Given the description of an element on the screen output the (x, y) to click on. 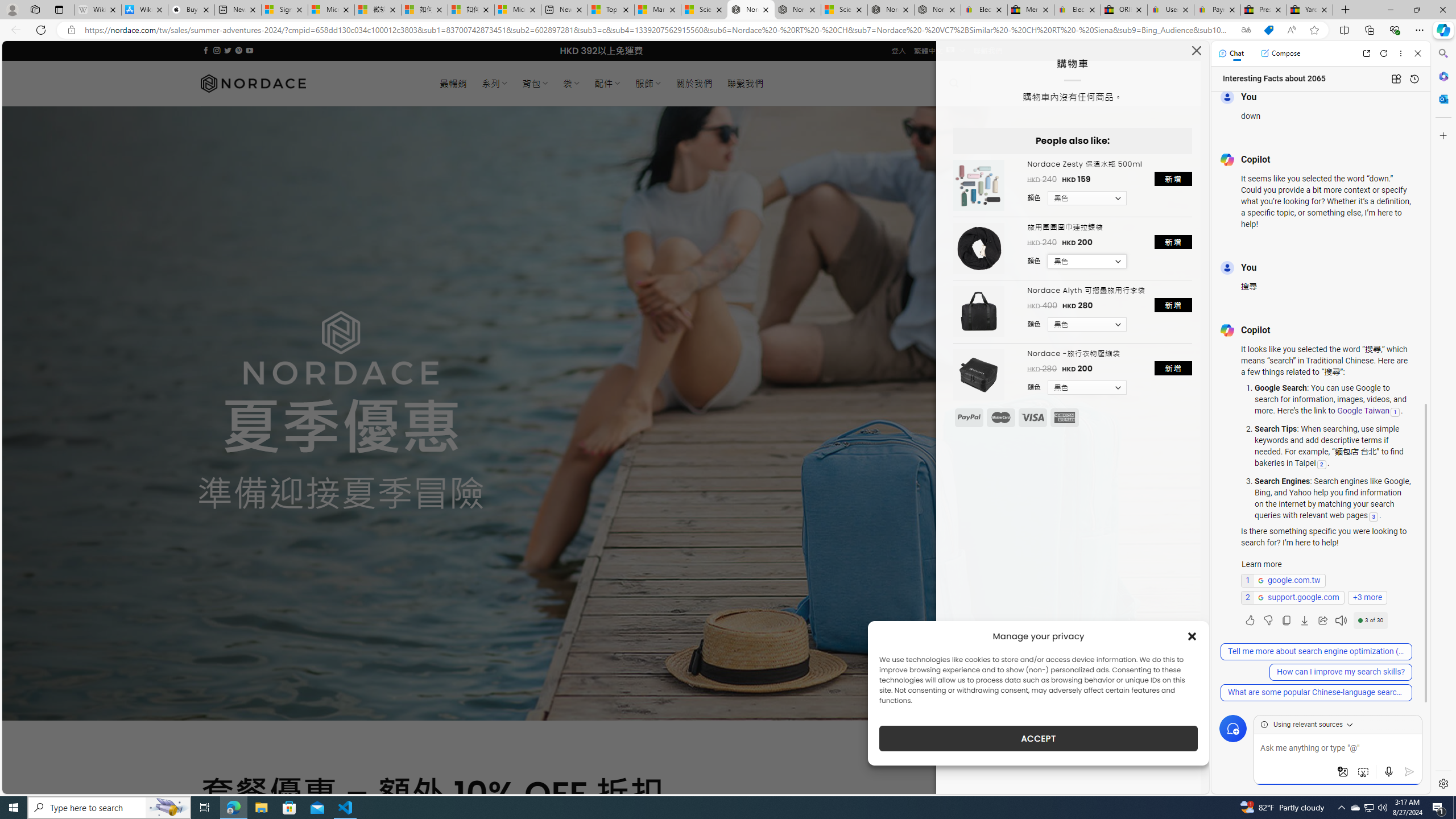
Yard, Garden & Outdoor Living (1309, 9)
This site has coupons! Shopping in Microsoft Edge (1268, 29)
Nordace (252, 83)
Class: feather feather-x (1196, 50)
ACCEPT (1038, 738)
Follow on Facebook (205, 50)
